Given the description of an element on the screen output the (x, y) to click on. 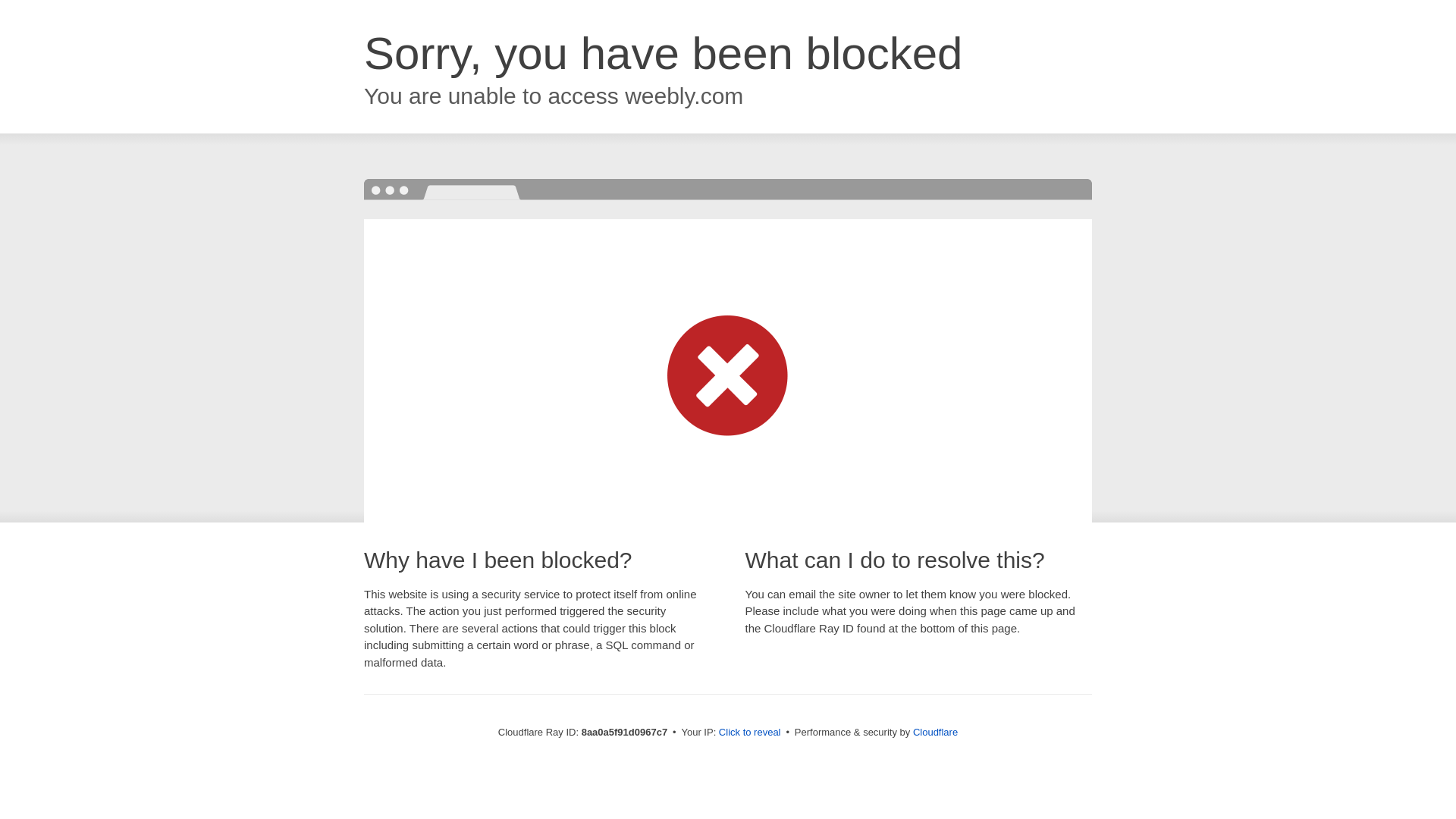
Cloudflare (935, 731)
Click to reveal (749, 732)
